Given the description of an element on the screen output the (x, y) to click on. 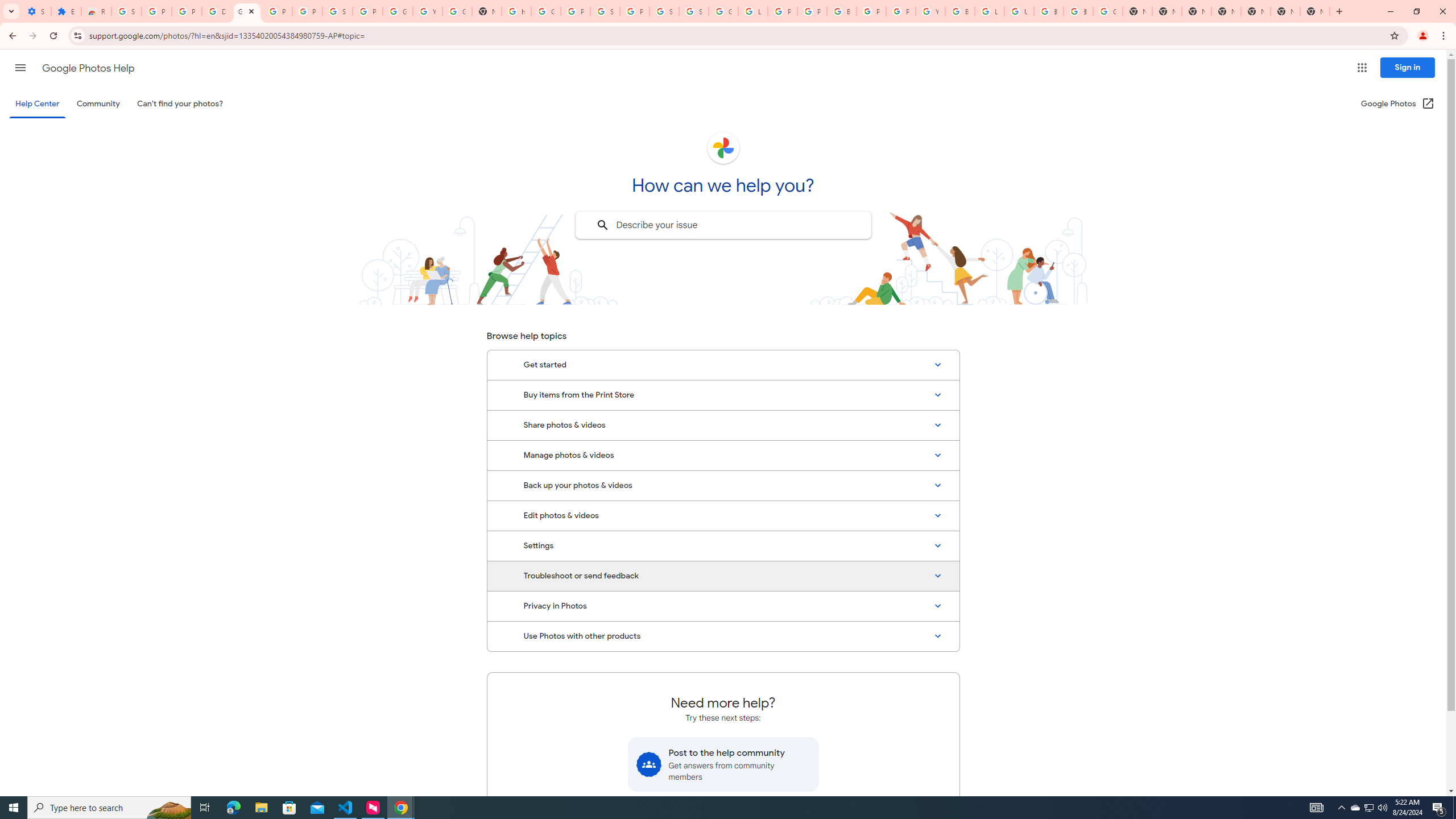
Search (601, 225)
Privacy Help Center - Policies Help (811, 11)
Use Photos with other products (722, 636)
Google Account (397, 11)
Settings (722, 546)
Reviews: Helix Fruit Jump Arcade Game (95, 11)
https://scholar.google.com/ (515, 11)
Share photos & videos (722, 425)
